Given the description of an element on the screen output the (x, y) to click on. 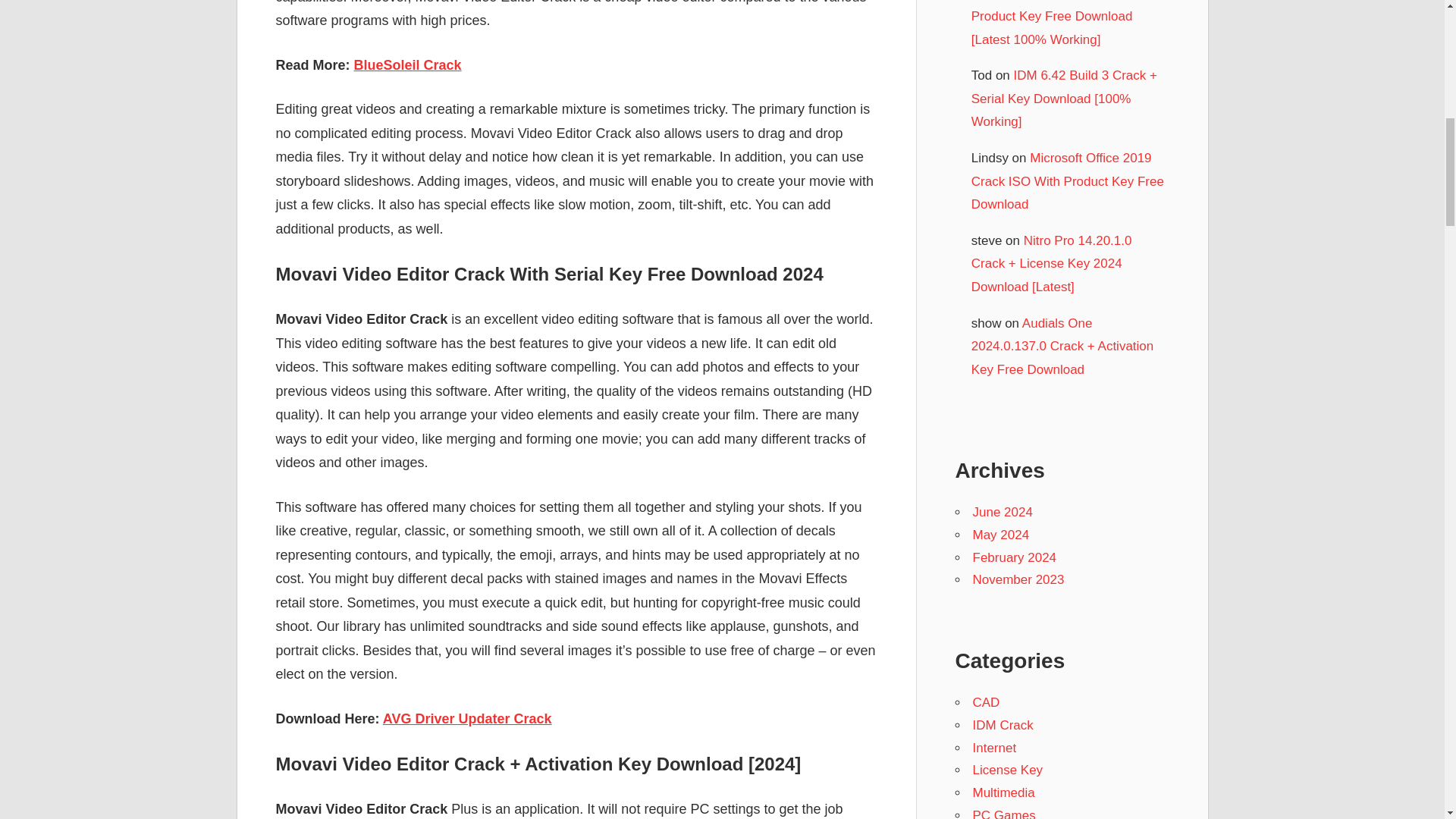
BlueSoleil Crack (407, 64)
AVG Driver Updater Crack (466, 718)
